Given the description of an element on the screen output the (x, y) to click on. 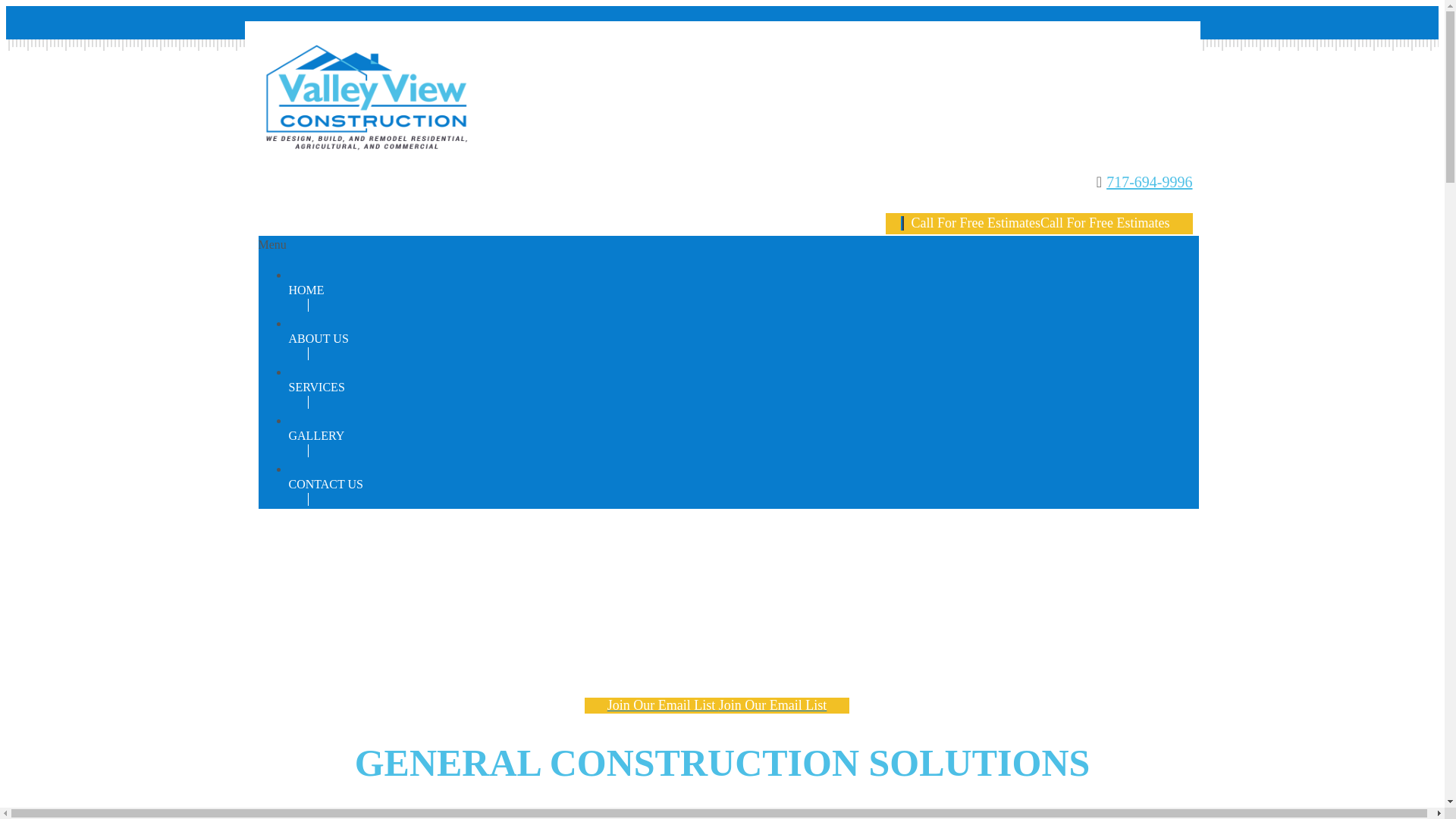
GALLERY Element type: text (602, 435)
ABOUT US Element type: text (602, 338)
Join Our Email List Join Our Email List Element type: text (722, 705)
CONTACT US Element type: text (602, 483)
SERVICES Element type: text (602, 386)
Go to site home page Element type: hover (365, 140)
Go to site home page Element type: hover (365, 96)
HOME Element type: text (602, 289)
717-694-9996 Element type: text (1148, 181)
